Given the description of an element on the screen output the (x, y) to click on. 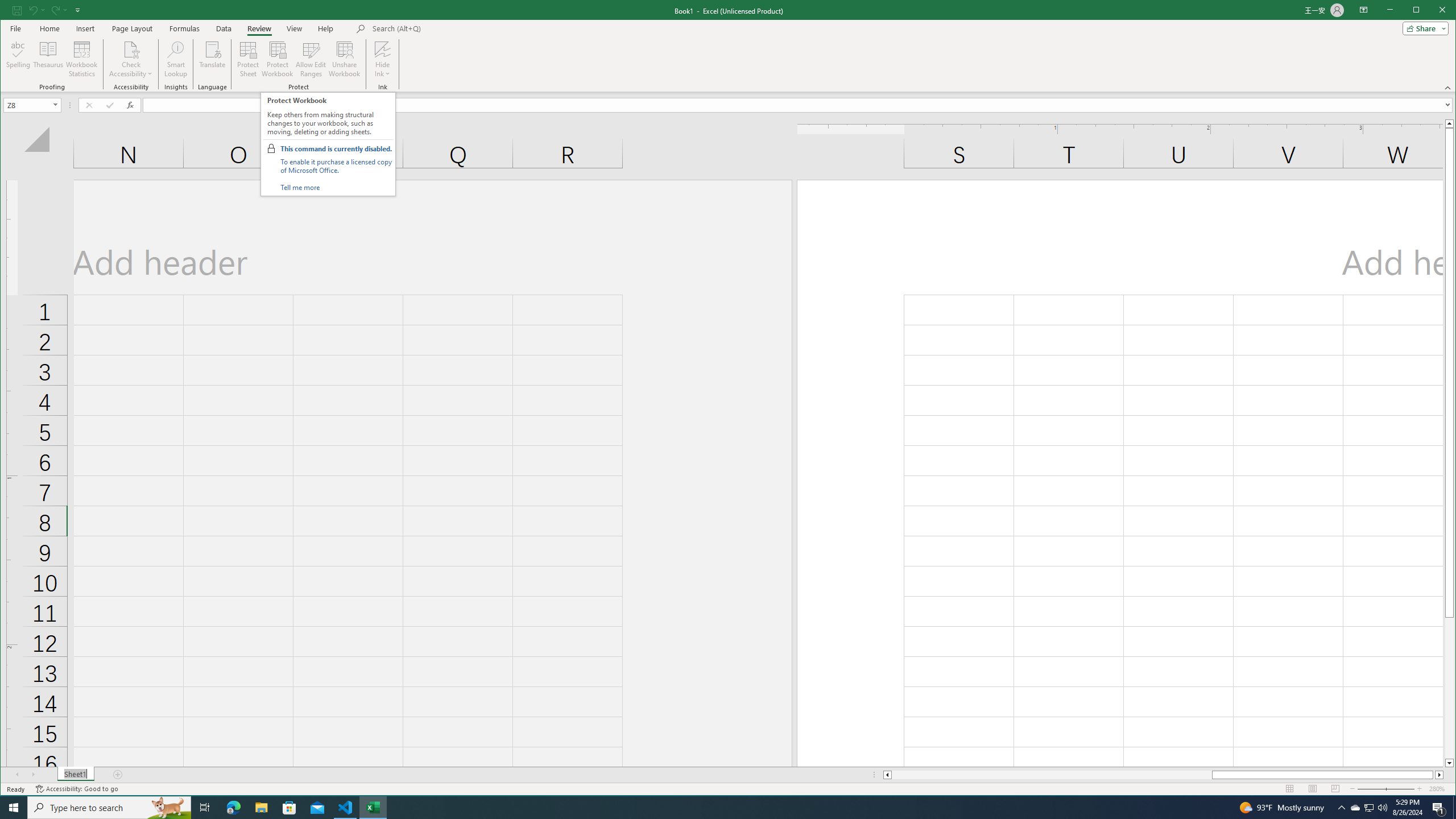
Microsoft Edge (233, 807)
Column left (886, 774)
Type here to search (108, 807)
Smart Lookup (176, 59)
Column right (1439, 774)
Accessibility Checker Accessibility: Good to go (76, 788)
Task View (204, 807)
Page down (1449, 687)
Zoom In (1419, 788)
Review (259, 28)
Protect Sheet... (247, 59)
Line up (1449, 122)
